Given the description of an element on the screen output the (x, y) to click on. 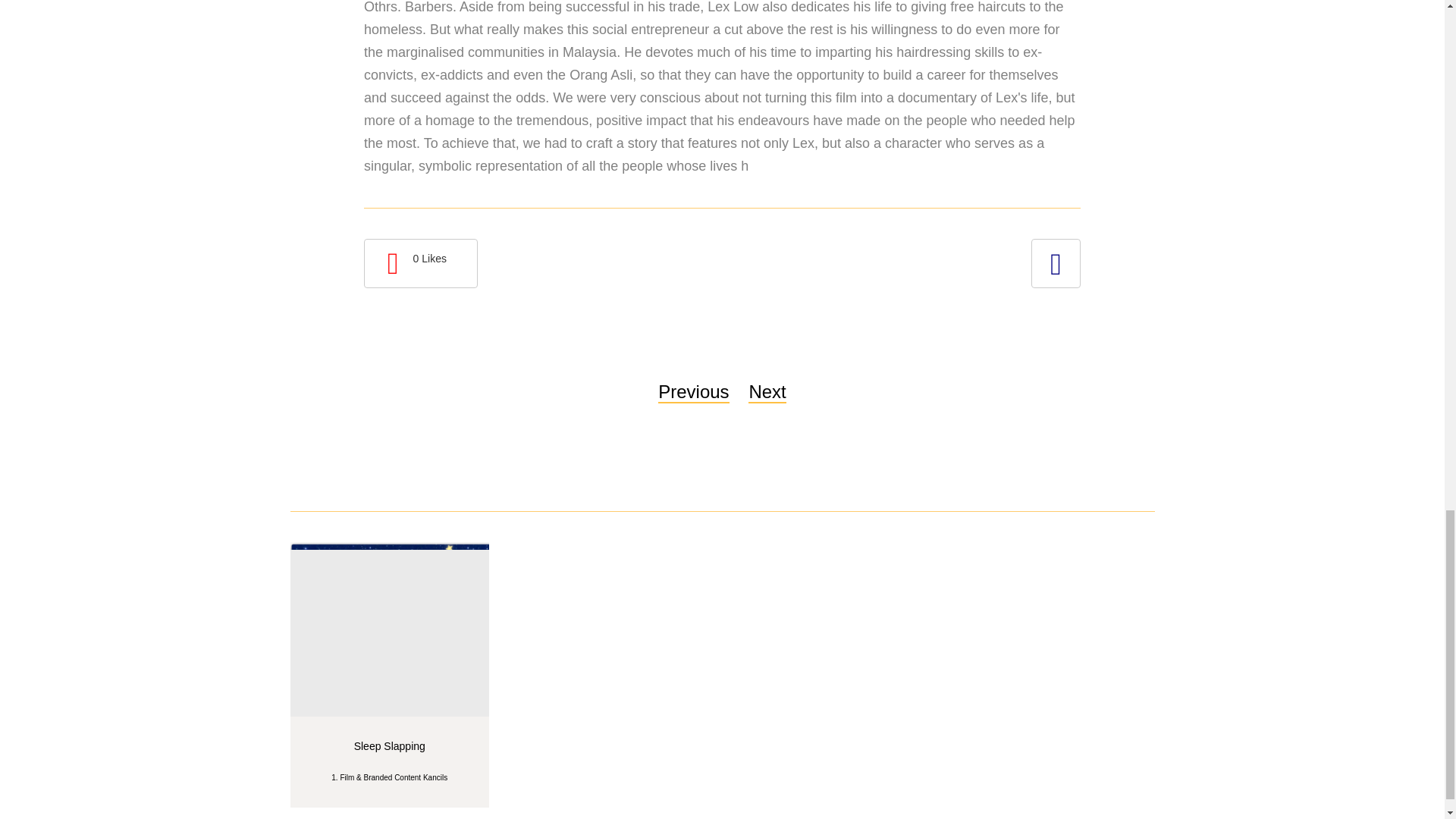
0 Likes (420, 263)
Next (767, 392)
Previous (693, 392)
